Given the description of an element on the screen output the (x, y) to click on. 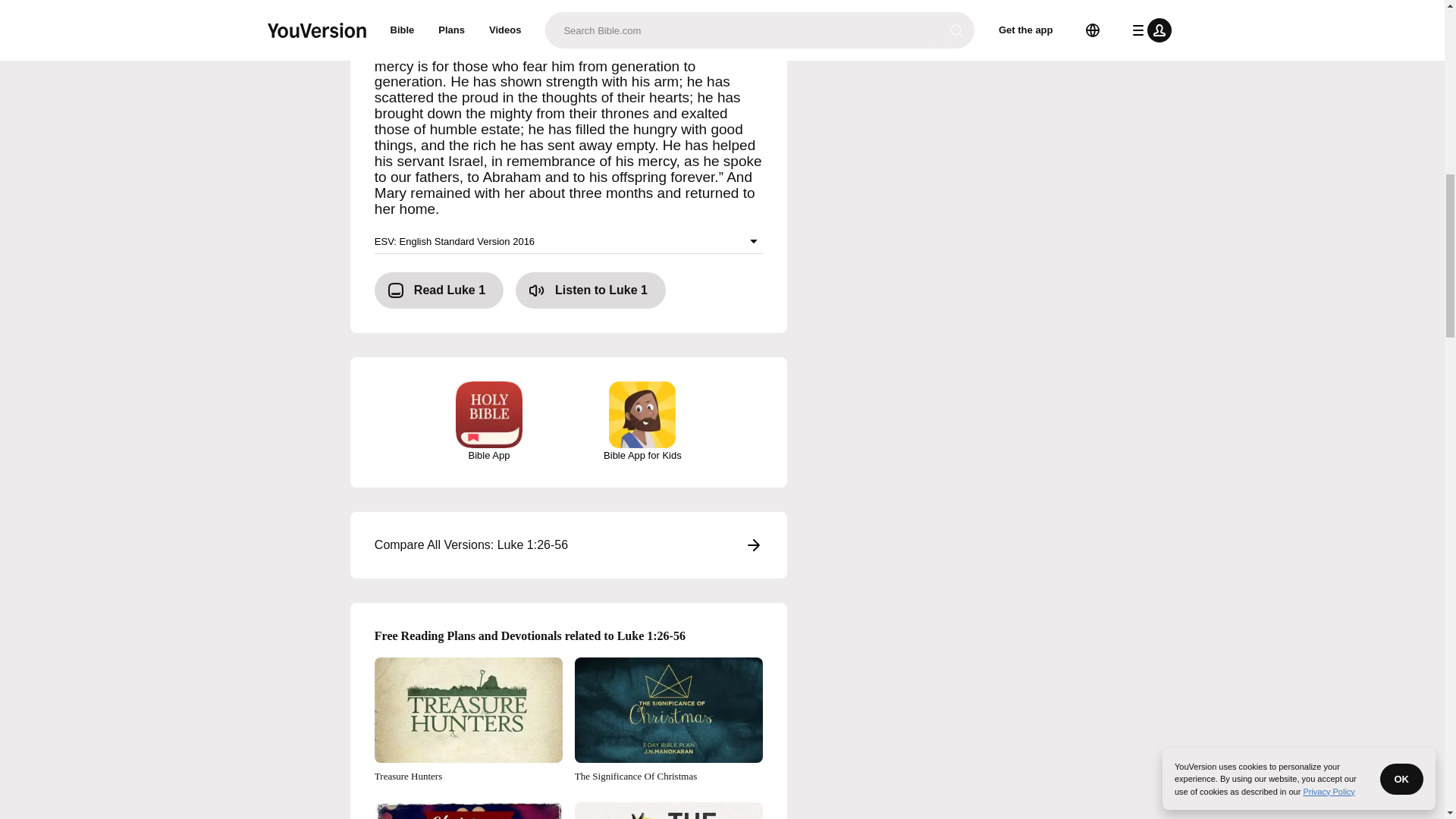
Christmas: The Promise Fulfilled (468, 810)
Listen to Luke 1 (590, 289)
Bible App for Kids (642, 422)
Compare All Versions: Luke 1:26-56 (568, 545)
The Significance Of Christmas (668, 720)
The Call Of God (668, 810)
Bible App (488, 422)
Treasure Hunters (468, 720)
ESV: English Standard Version 2016 (568, 241)
Read Luke 1 (438, 289)
